Given the description of an element on the screen output the (x, y) to click on. 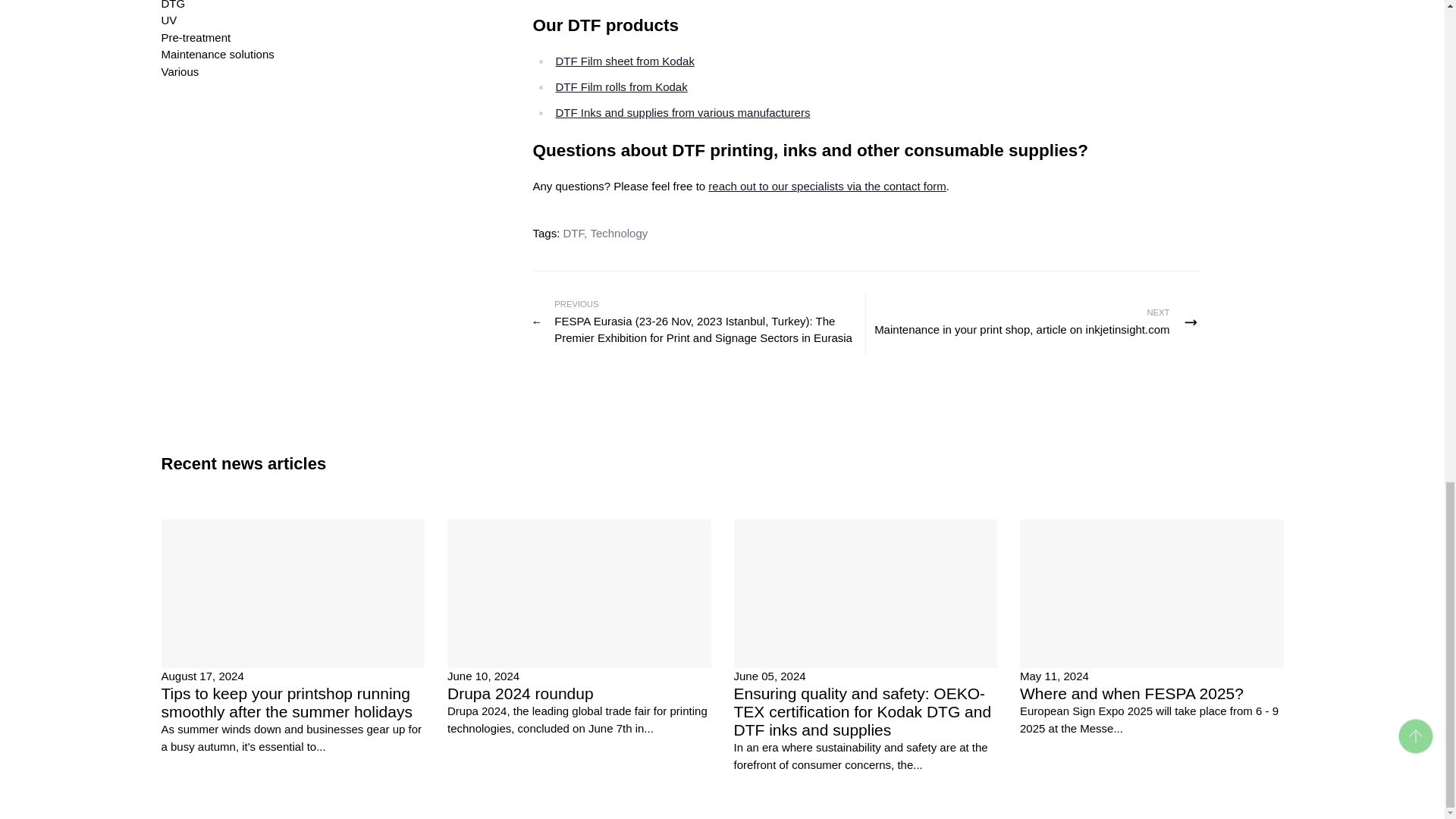
DTF inks and supplies from industrialinks.com (681, 112)
DTF film rolls from Kodak (620, 86)
DTF transfer sheet (624, 60)
